Given the description of an element on the screen output the (x, y) to click on. 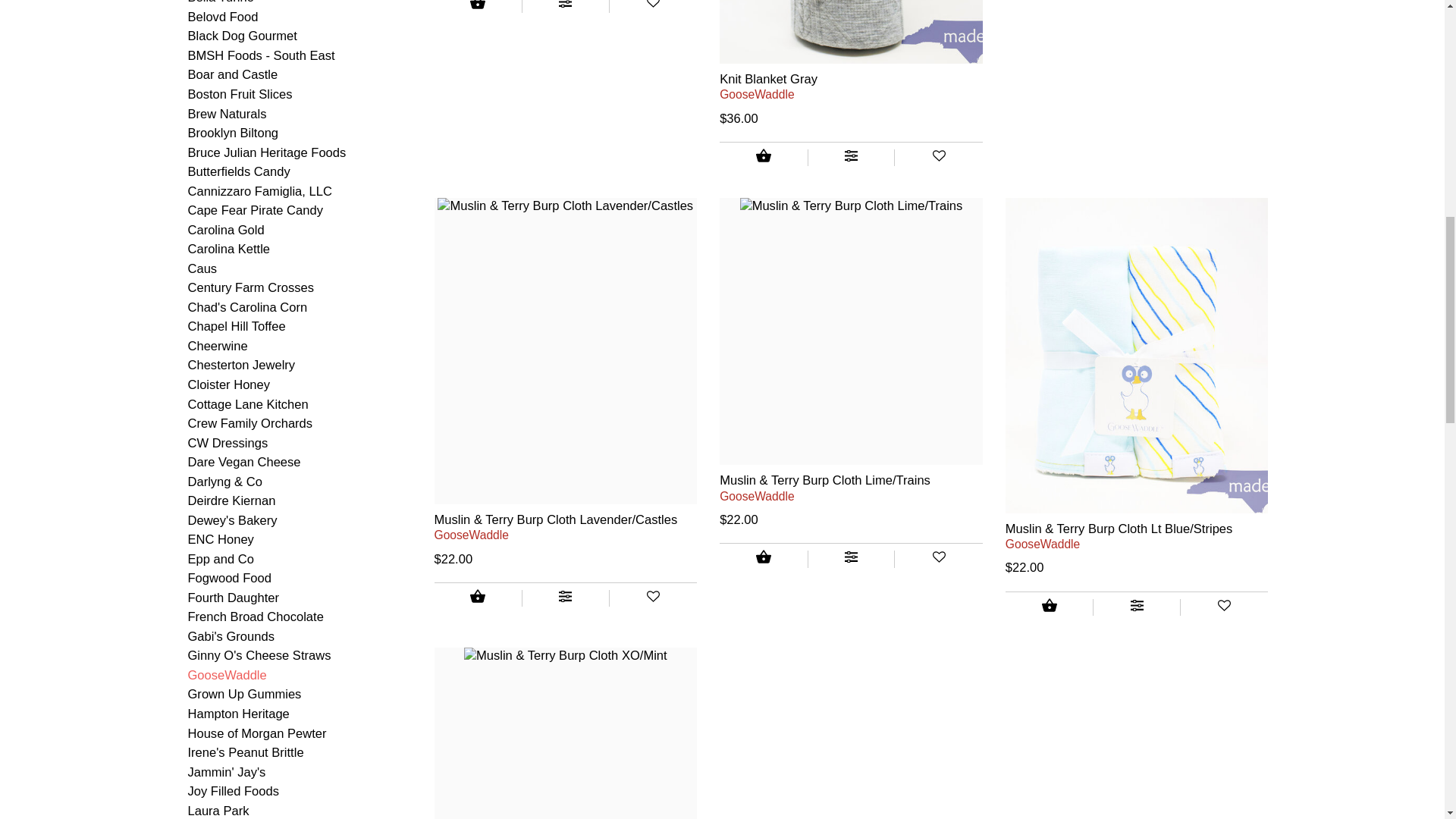
Compare (851, 158)
Compare (565, 6)
Add to Cart (763, 157)
Add to Cart (477, 598)
Compare (565, 598)
Add to Cart (763, 558)
Add to Wishlist (653, 598)
Compare (851, 559)
Add to Cart (477, 7)
Add to Wishlist (653, 6)
